Given the description of an element on the screen output the (x, y) to click on. 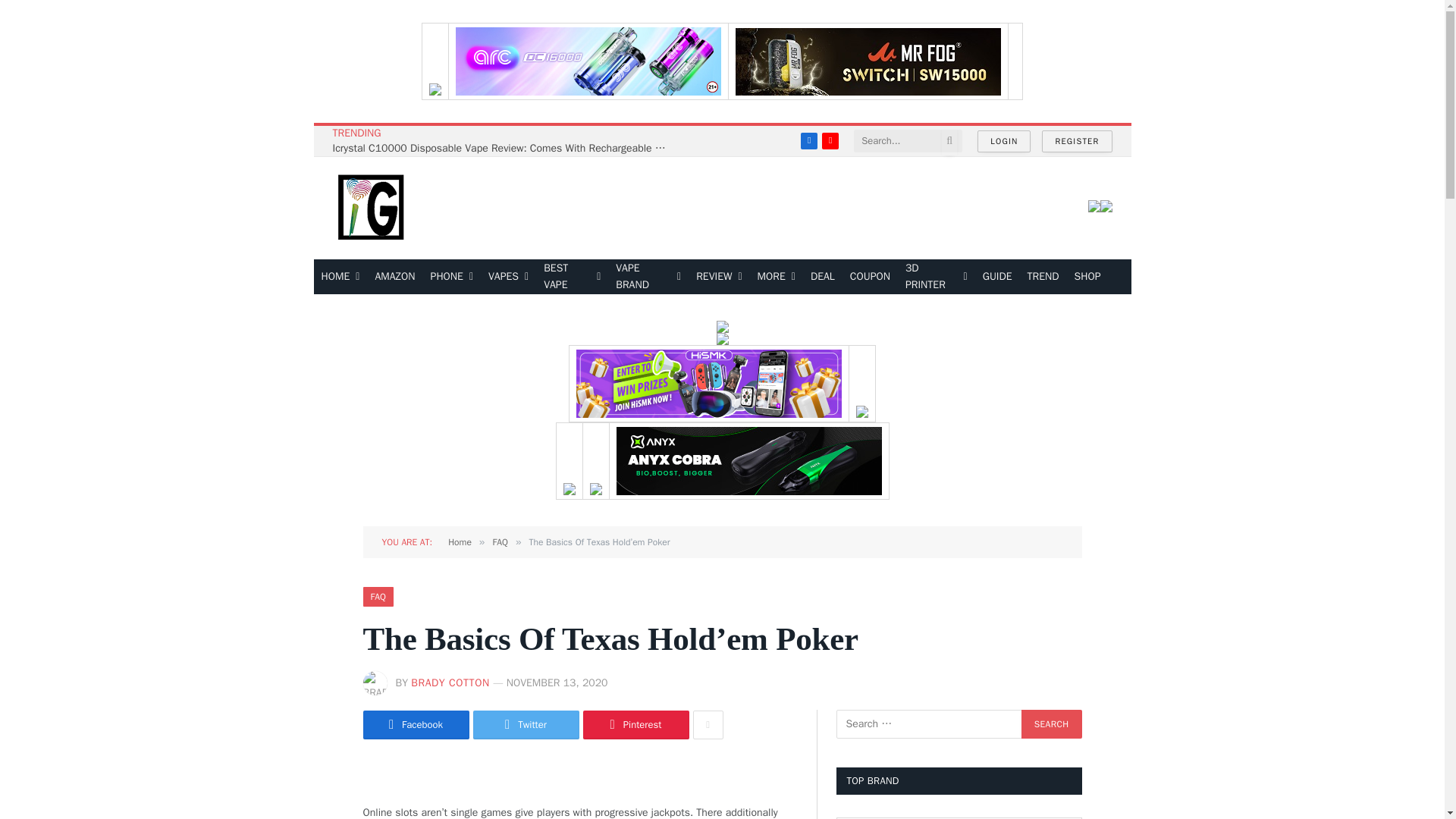
HOME (341, 276)
Share on Facebook (415, 724)
Facebook (808, 140)
Share on Pinterest (635, 724)
Share on Twitter (526, 724)
Search (1051, 724)
Posts by Brady Cotton (449, 682)
YouTube (830, 140)
AMAZON (394, 276)
Show More Social Sharing (708, 724)
